Given the description of an element on the screen output the (x, y) to click on. 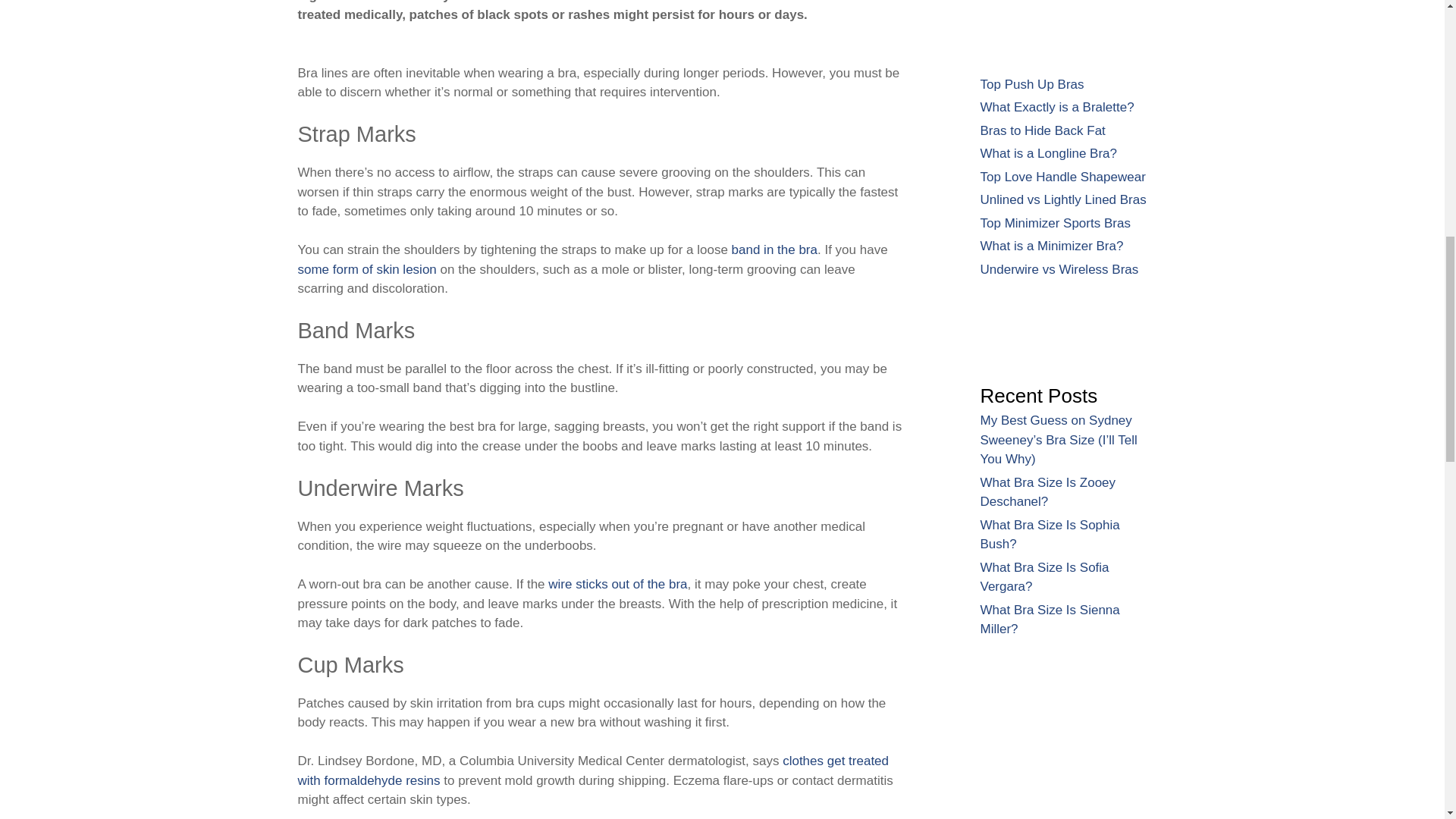
some form of skin lesion (366, 269)
wire sticks out of the bra (617, 584)
band in the bra (774, 249)
clothes get treated with formaldehyde resins (592, 770)
